Given the description of an element on the screen output the (x, y) to click on. 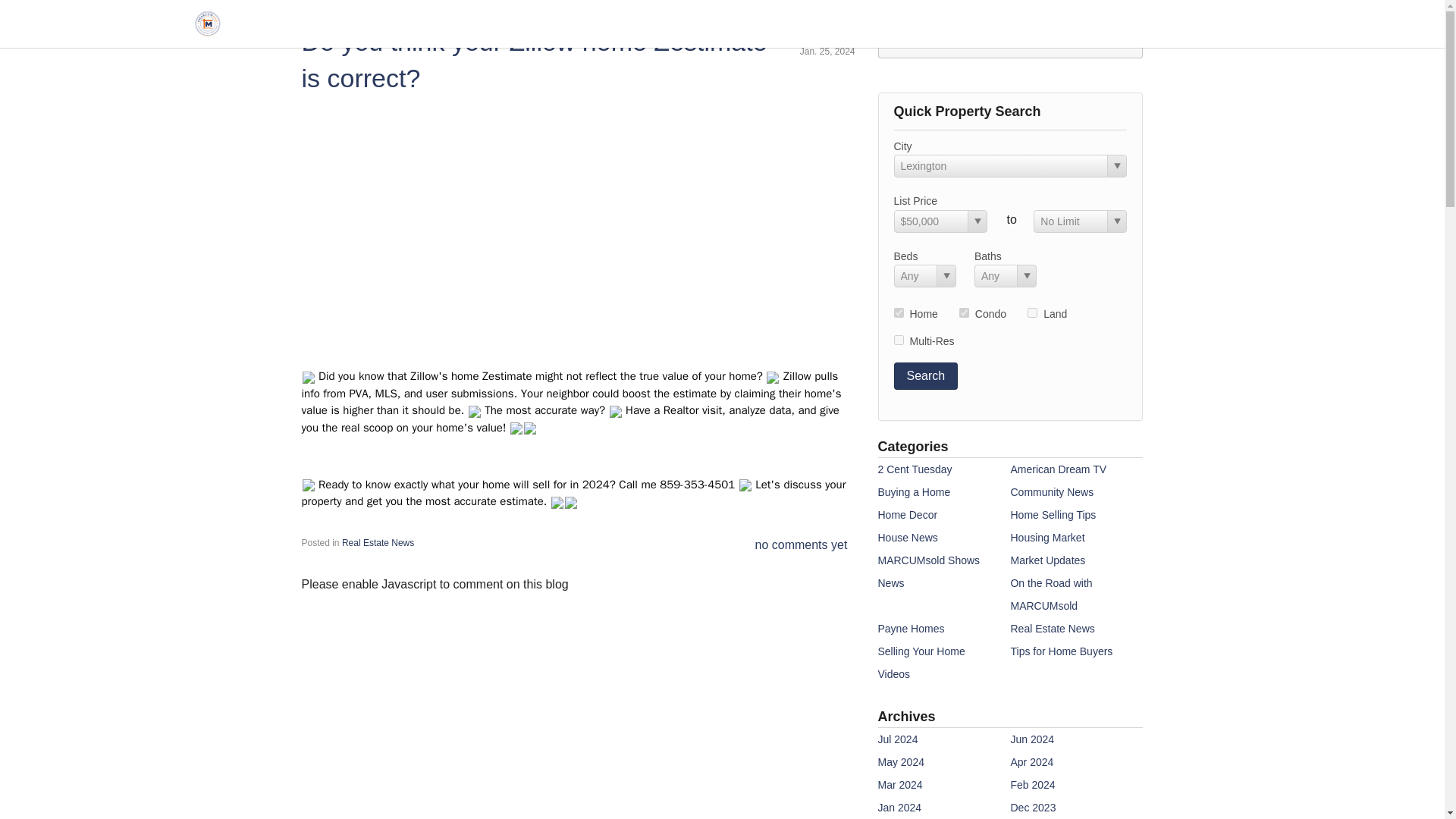
Buying a Home (913, 491)
no comments yet (801, 544)
Housing Market (1047, 537)
News (890, 582)
YouTube video player (577, 224)
Payne Homes (910, 628)
Home Decor (907, 514)
Home Selling Tips (1053, 514)
Market Updates (1047, 560)
lnd (1031, 312)
Community News (1051, 491)
Real Estate News (1052, 628)
Tips for Home Buyers (1061, 651)
Like or Share (1009, 42)
American Dream TV (1058, 469)
